Given the description of an element on the screen output the (x, y) to click on. 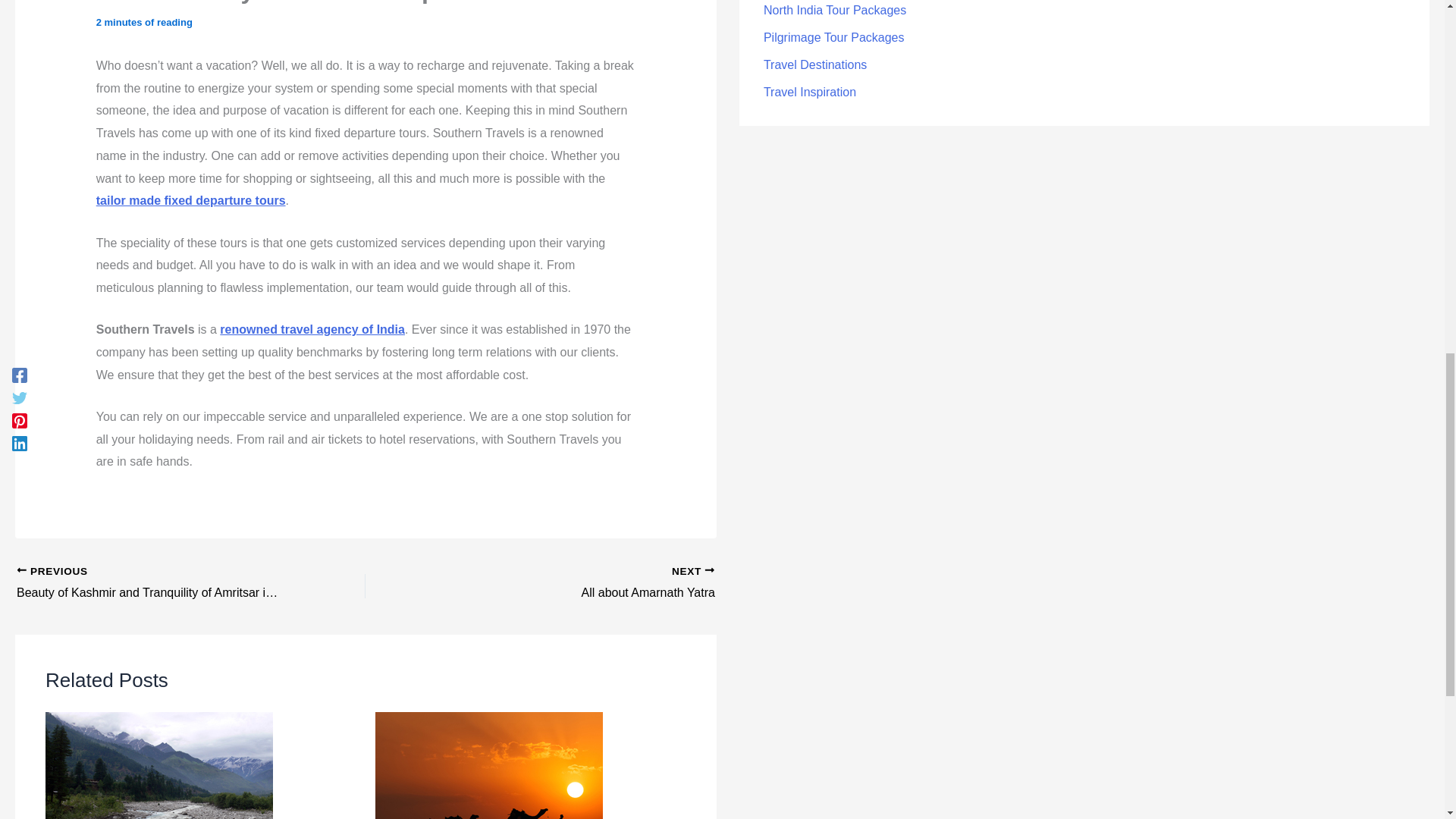
All about Amarnath Yatra (573, 583)
renowned travel agency of India (573, 583)
tailor made fixed departure tours (311, 328)
